Given the description of an element on the screen output the (x, y) to click on. 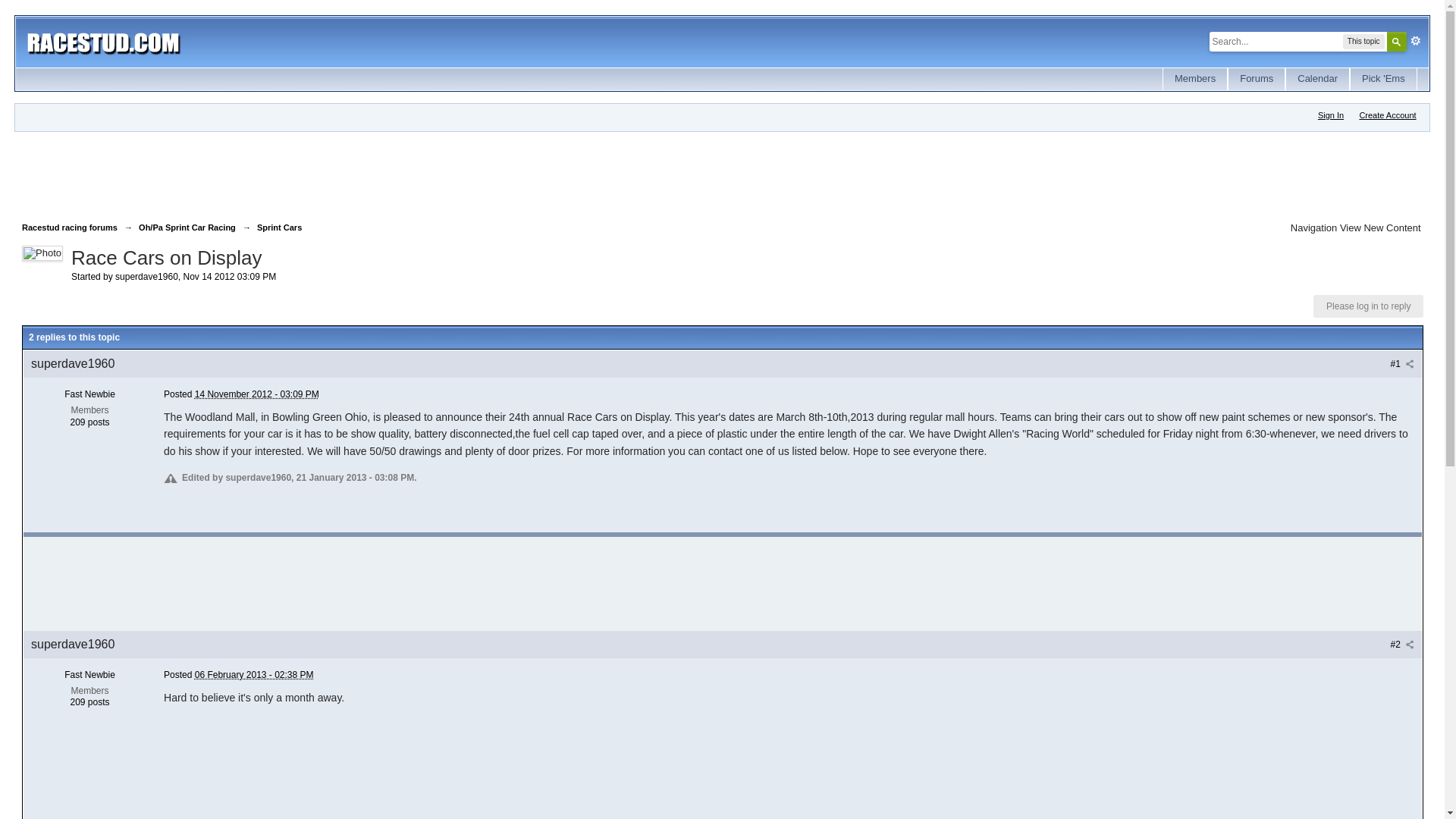
Racestud racing forums (69, 226)
Go to Calendar (1317, 78)
Go to Forums (1256, 78)
Forums (1256, 78)
Navigation (1313, 227)
Sign In (1330, 114)
View New Content (1380, 227)
Members (1195, 78)
Calendar (1317, 78)
Return to Sprint Cars (279, 226)
Go to Members (1195, 78)
View New Content (1380, 227)
superdave1960 (146, 276)
superdave1960 (72, 363)
Advanced Search (1415, 40)
